Given the description of an element on the screen output the (x, y) to click on. 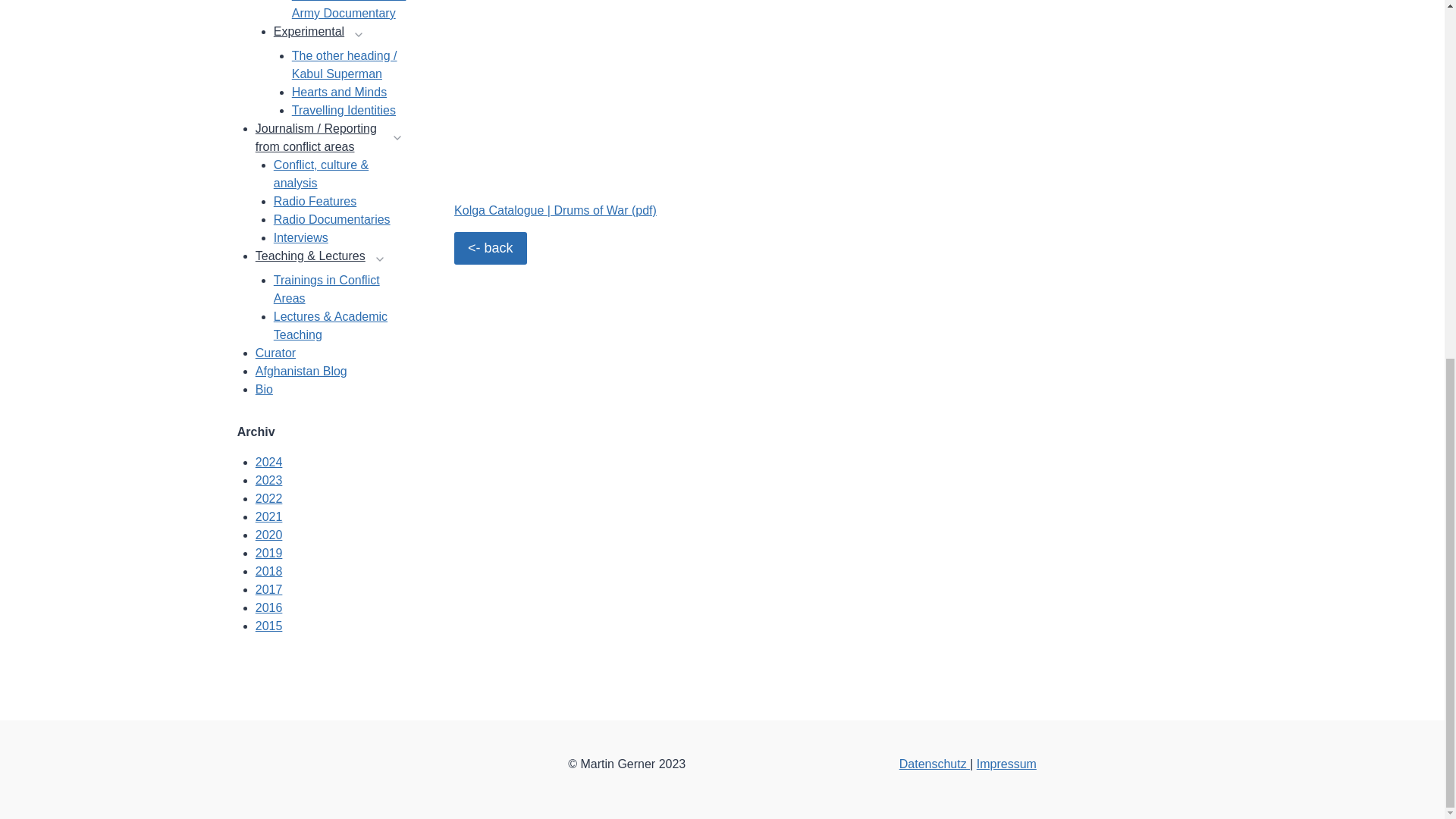
Travelling Identities (344, 110)
Hearts and Minds (339, 91)
Experimental (308, 34)
